Given the description of an element on the screen output the (x, y) to click on. 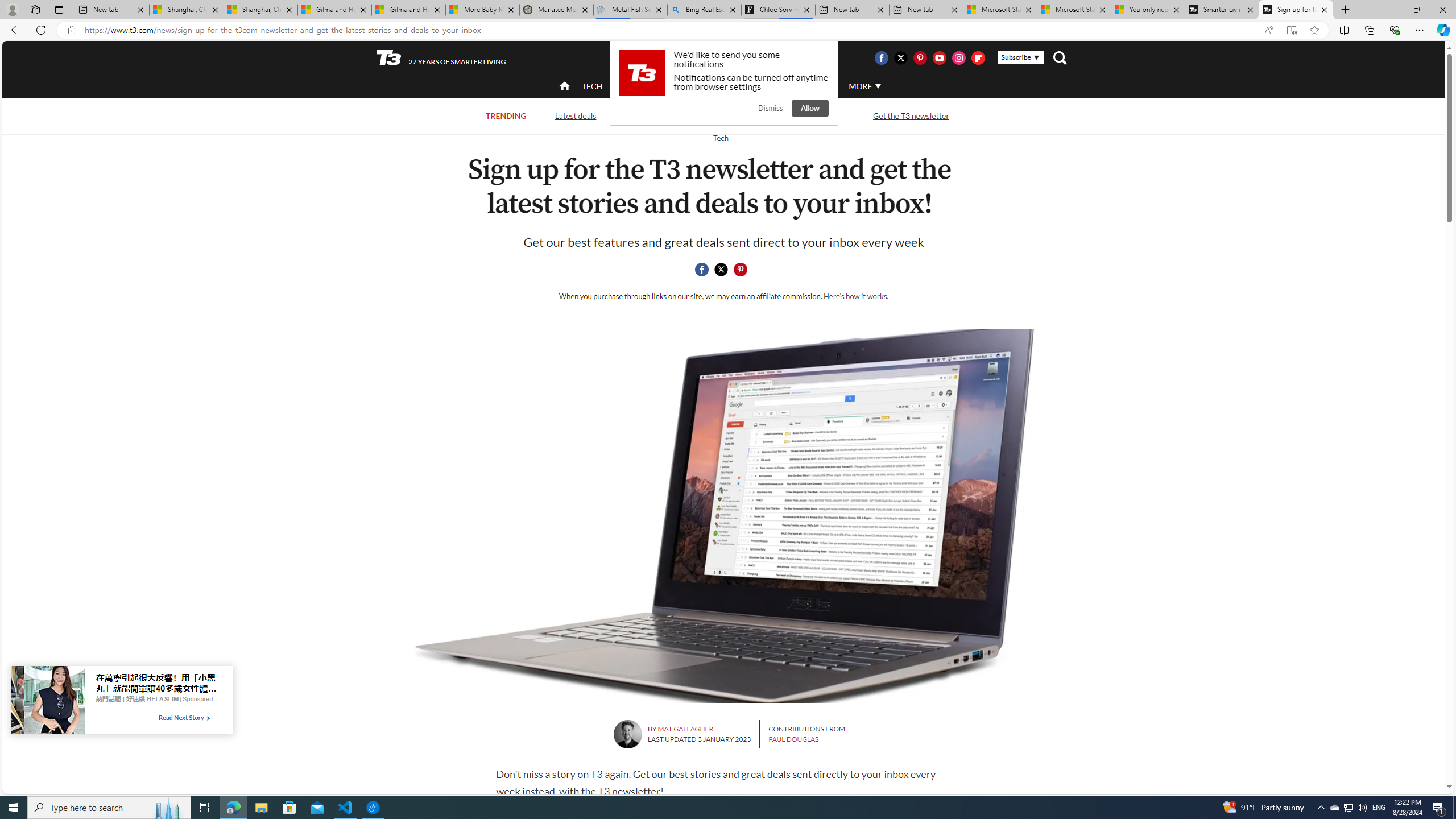
Gilma and Hector both pose tropical trouble for Hawaii (407, 9)
Enter Immersive Reader (F9) (1291, 29)
Visit us on Twitter (900, 57)
HOME LIVING (701, 86)
MORE  (863, 86)
Latest deals (575, 115)
Class: navigation__search (1059, 57)
AUTO (815, 85)
Get the T3 newsletter (911, 115)
Tech (720, 137)
Get the T3 newsletter (911, 115)
